Given the description of an element on the screen output the (x, y) to click on. 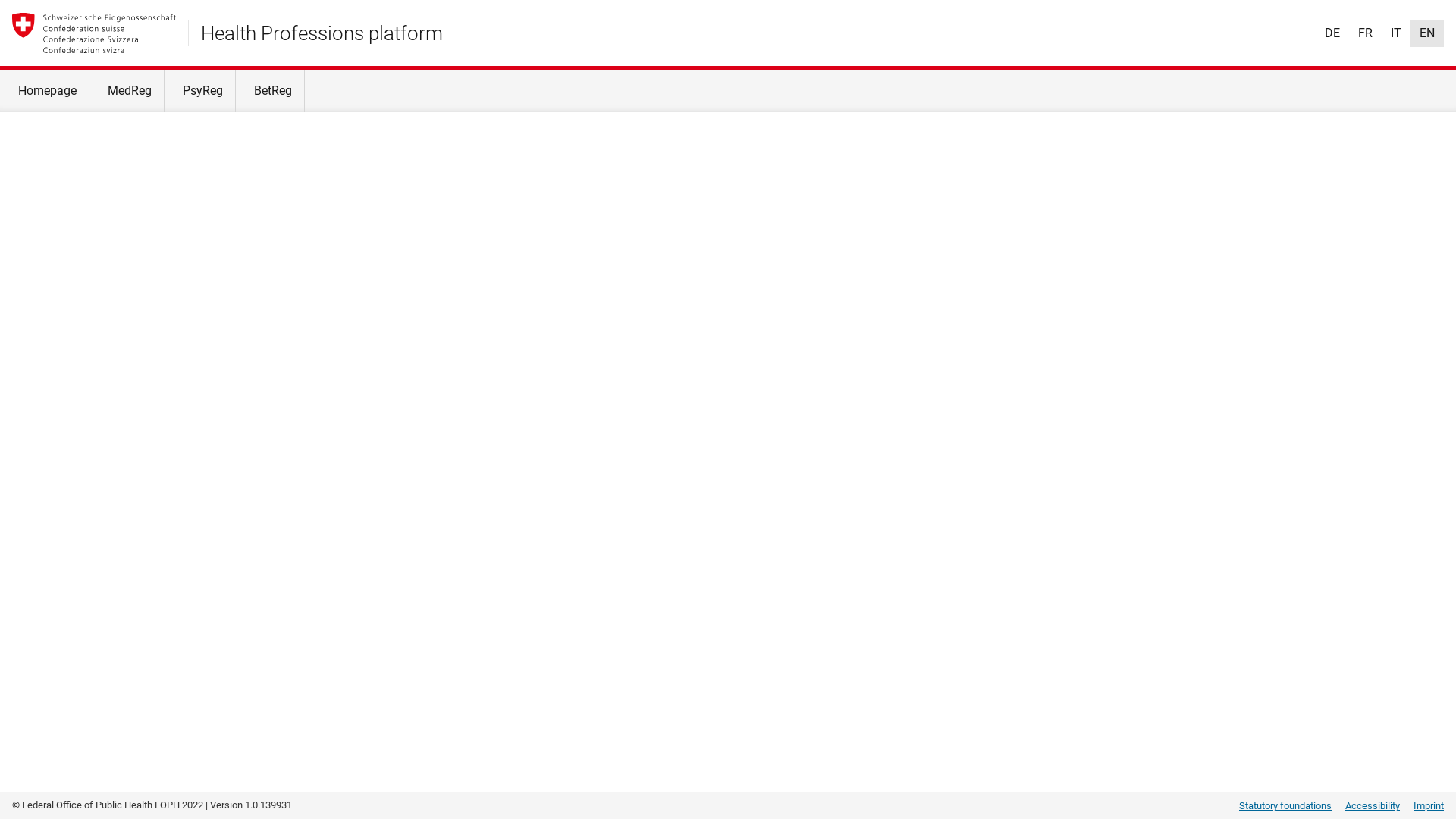
FR Element type: text (1365, 33)
Health Professions platform Element type: text (321, 32)
Imprint Element type: text (1428, 805)
Statutory foundations Element type: text (1285, 805)
PsyReg Element type: text (199, 90)
EN Element type: text (1426, 33)
Homepage Element type: text (44, 90)
DE Element type: text (1332, 33)
Accessibility Element type: text (1372, 805)
IT Element type: text (1395, 33)
MedReg Element type: text (126, 90)
BetReg Element type: text (269, 90)
